Given the description of an element on the screen output the (x, y) to click on. 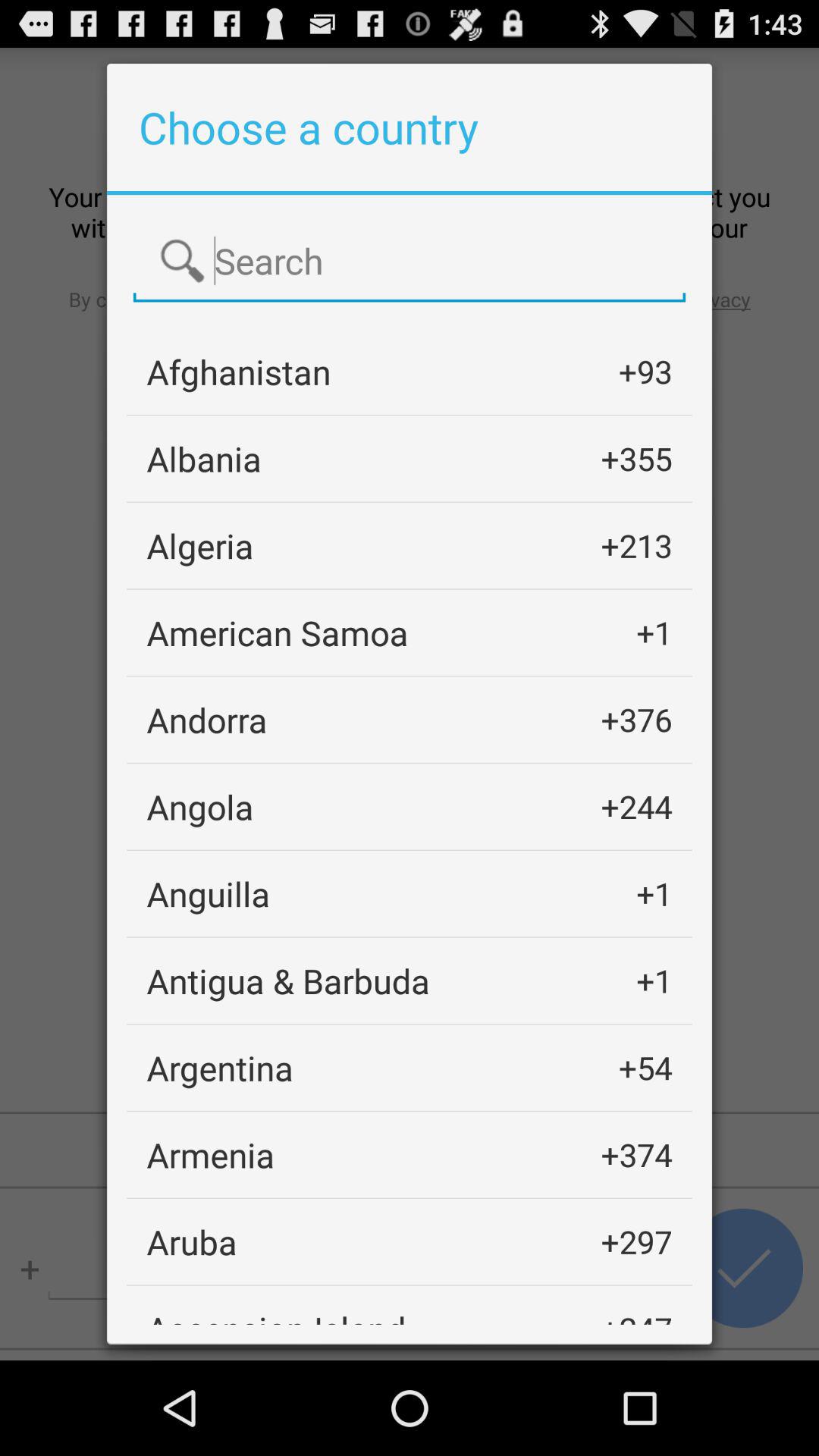
turn off item above the armenia item (219, 1067)
